Given the description of an element on the screen output the (x, y) to click on. 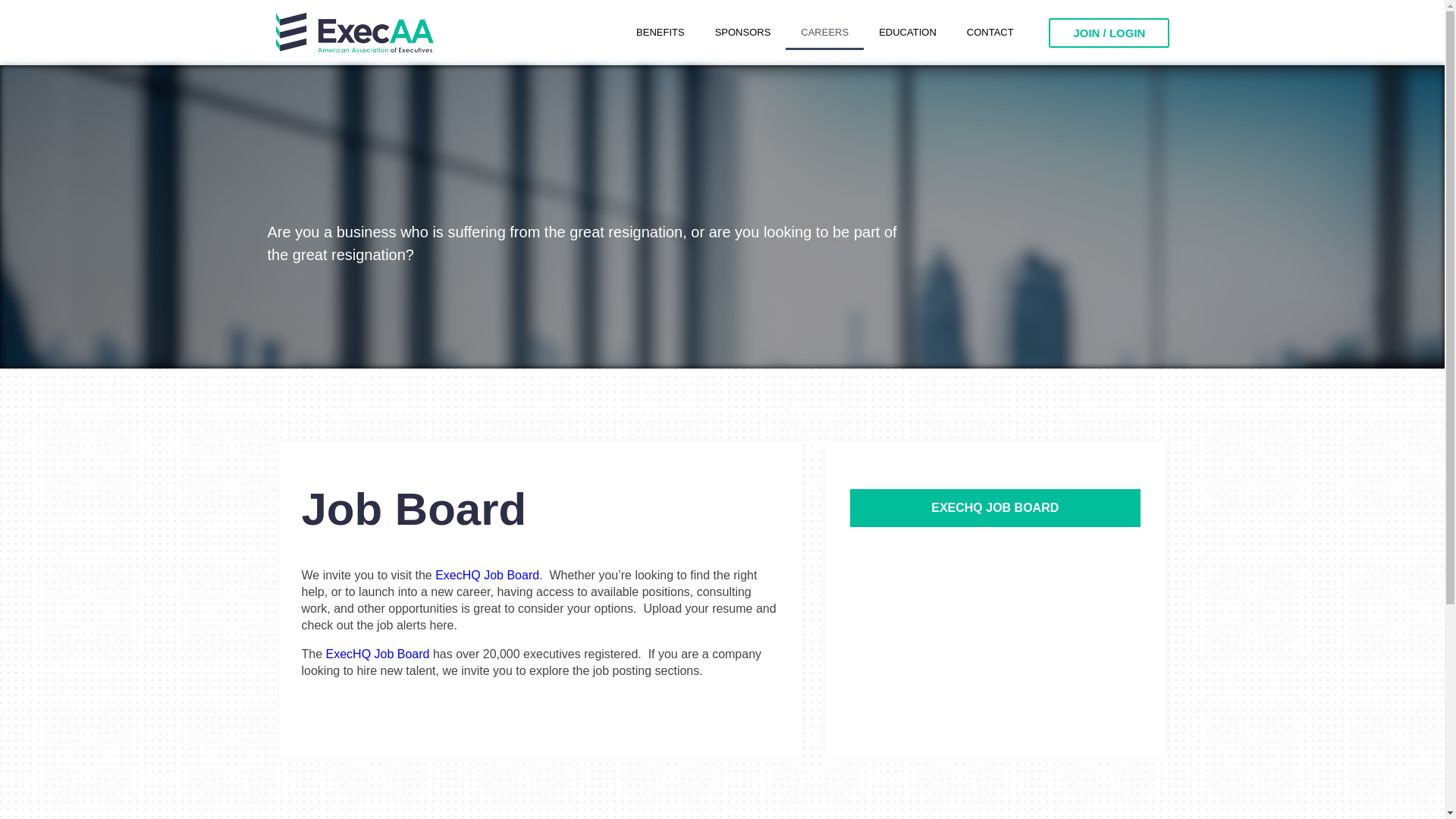
BENEFITS (660, 32)
CONTACT (990, 32)
SPONSORS (743, 32)
ExecHQ Job Board (377, 653)
CAREERS (824, 32)
EXECHQ JOB BOARD (994, 507)
EDUCATION (907, 32)
ExecHQ Job Board (486, 574)
